Given the description of an element on the screen output the (x, y) to click on. 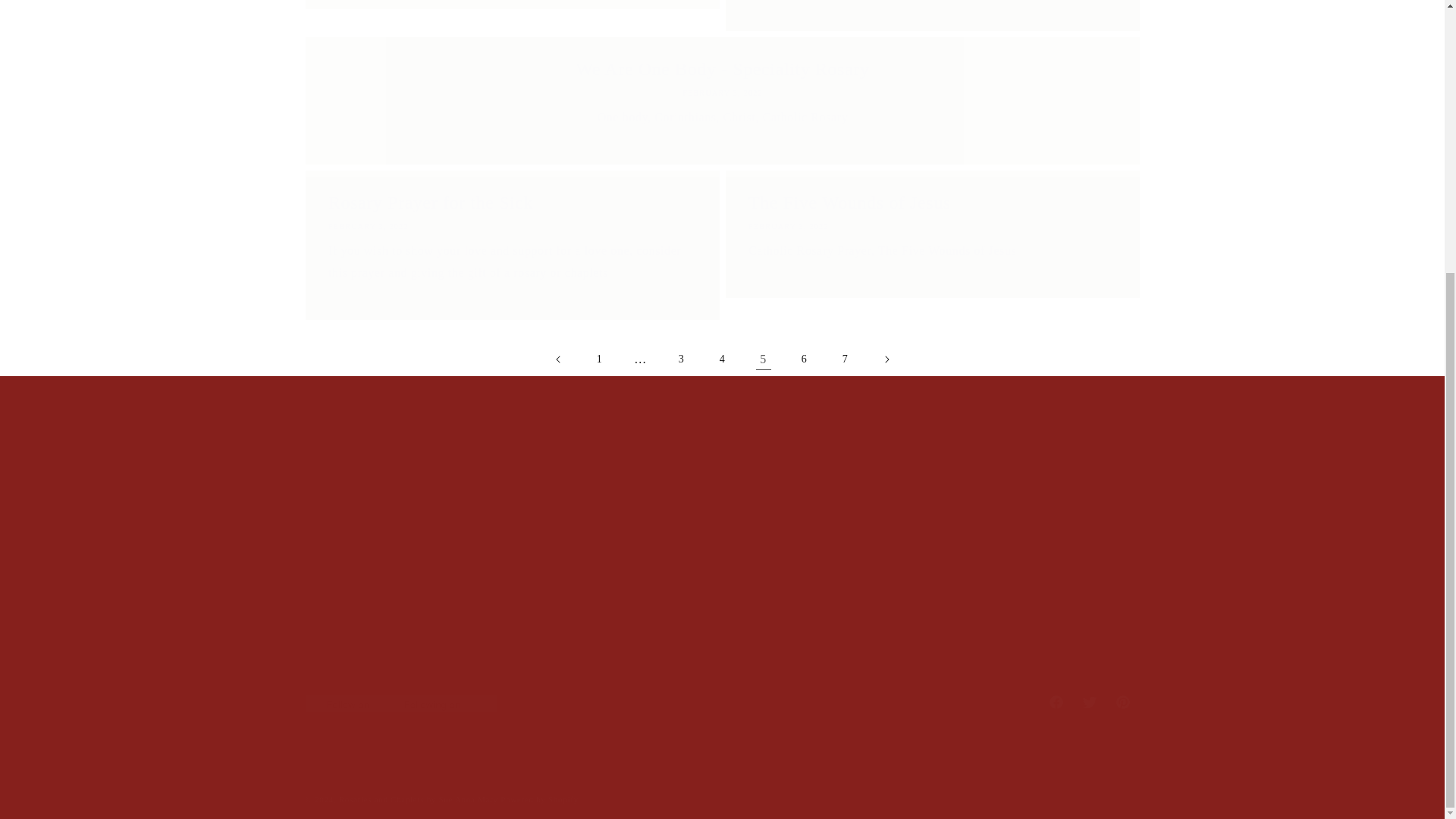
Sue Anna Mary Rosaries Etsy Store (721, 702)
